Given the description of an element on the screen output the (x, y) to click on. 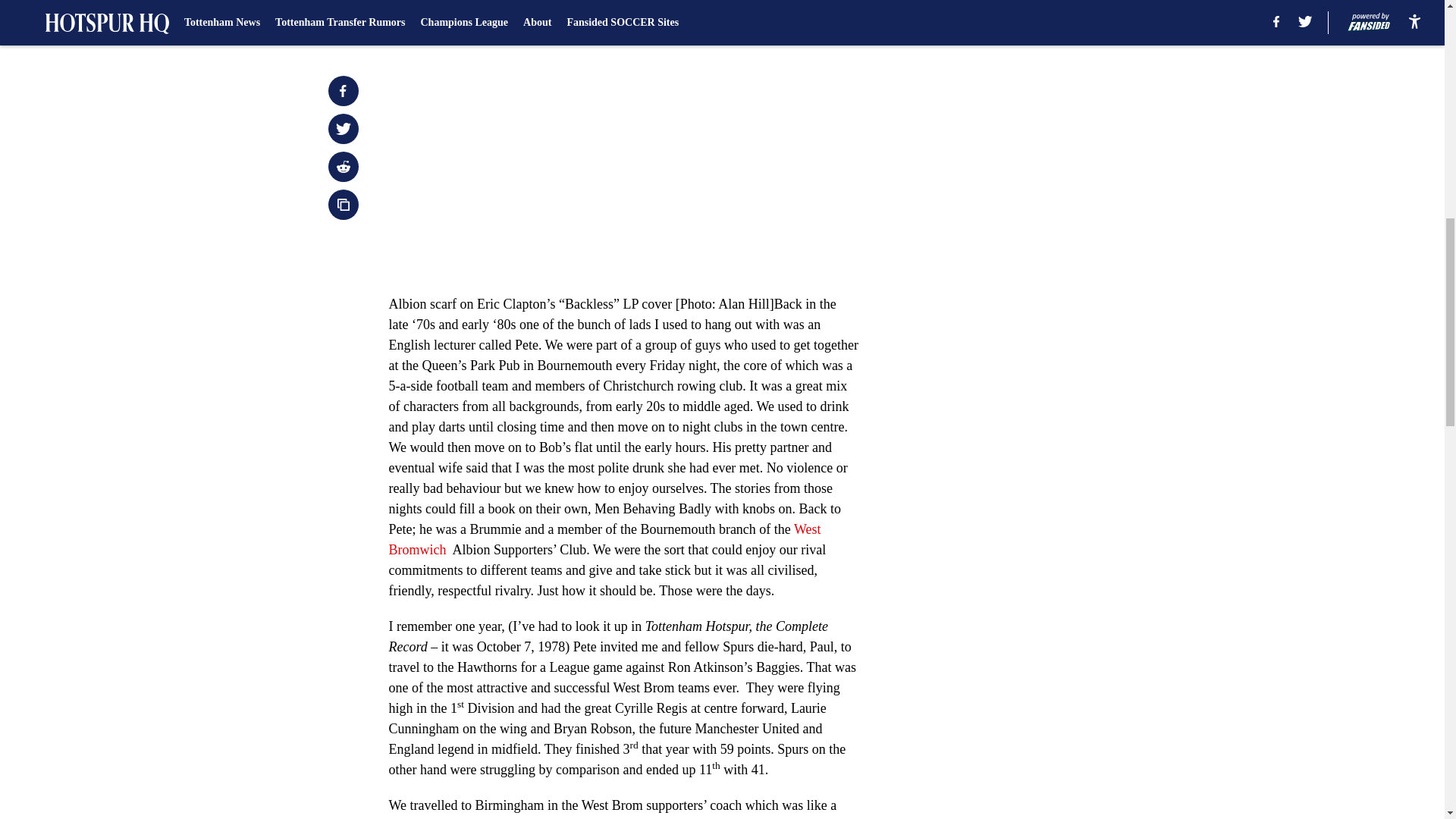
West Bromwich (604, 539)
